Given the description of an element on the screen output the (x, y) to click on. 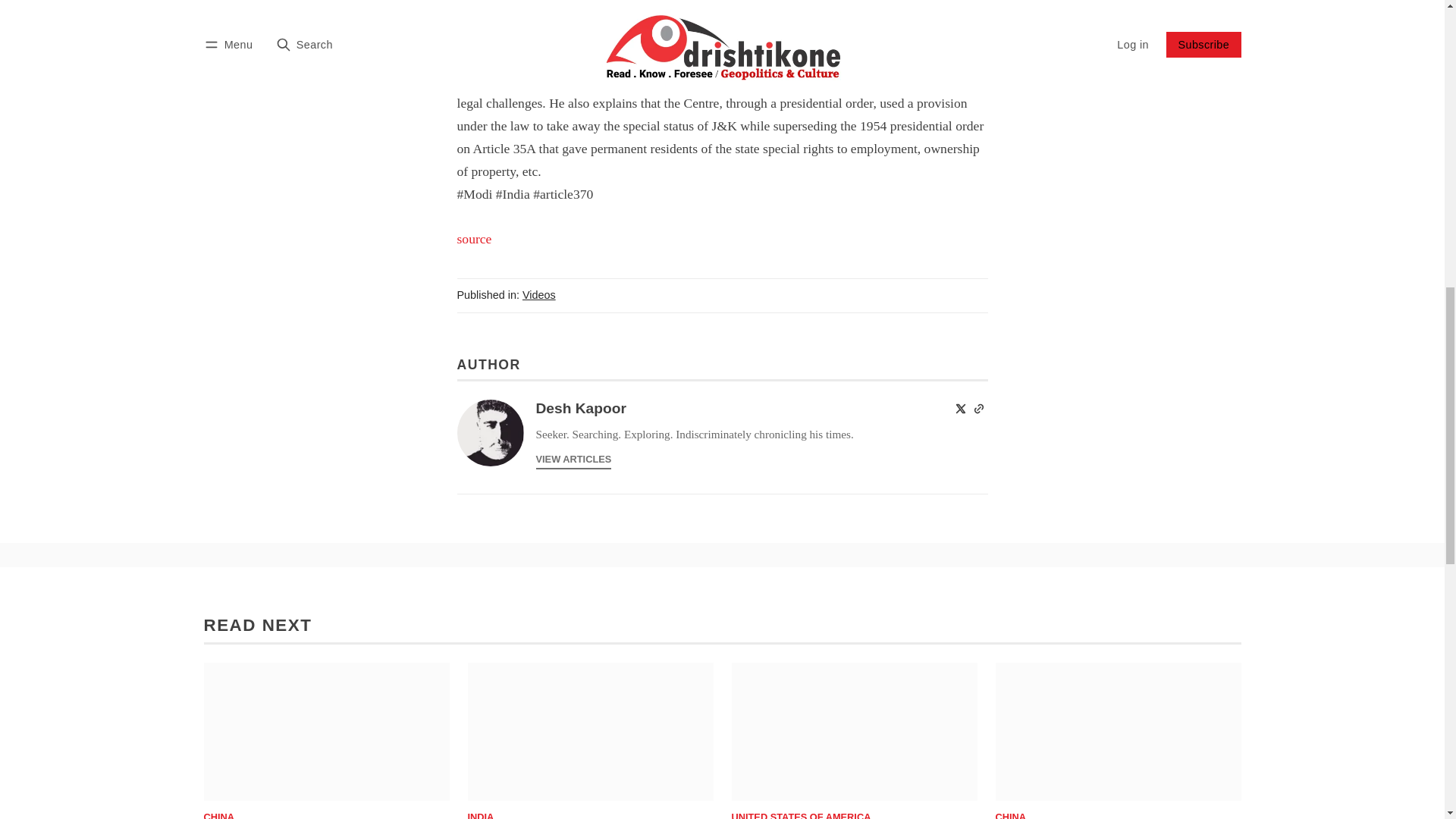
Twitter (959, 408)
Website (978, 408)
